Given the description of an element on the screen output the (x, y) to click on. 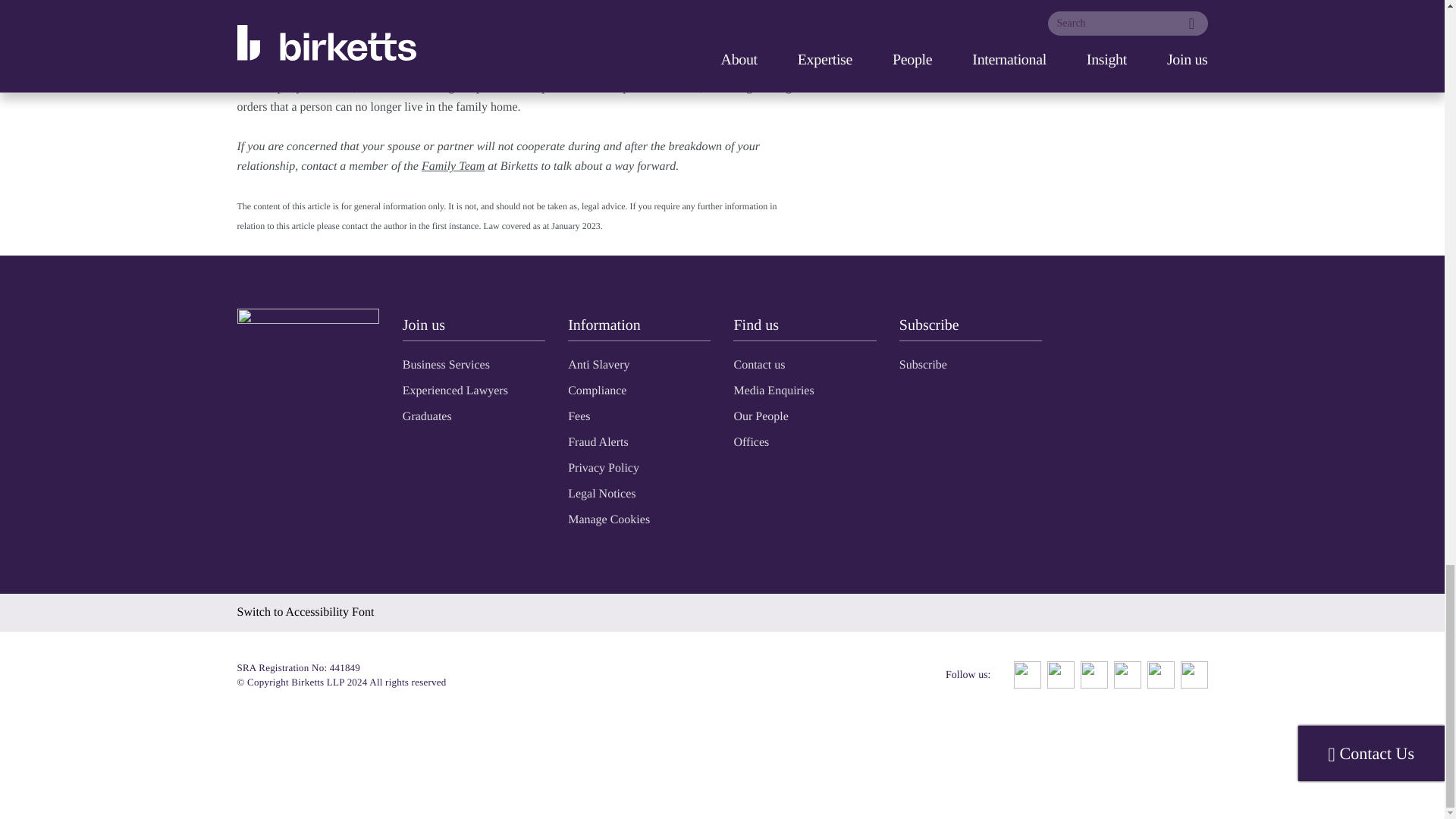
Our People (760, 415)
Compliance (596, 390)
Switch to Dyslexic friendly appearance (304, 611)
Manage Cookies (608, 518)
Offices (750, 440)
Contact us (758, 364)
Subscribe (923, 364)
Experienced Lawyers (455, 390)
Graduates (427, 415)
Fees (578, 415)
